Given the description of an element on the screen output the (x, y) to click on. 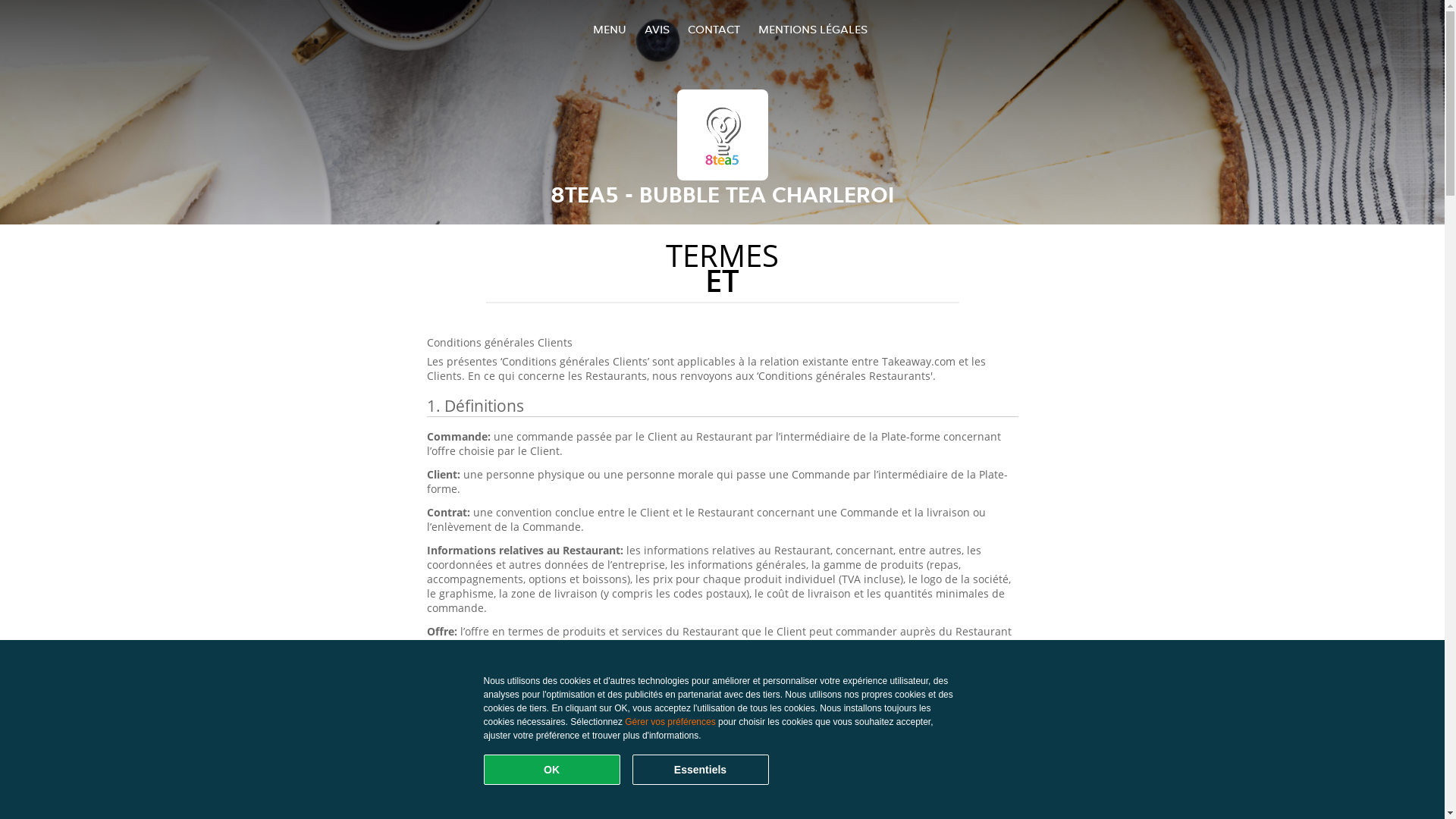
AVIS Element type: text (656, 29)
MENU Element type: text (609, 29)
Essentiels Element type: text (700, 769)
CONTACT Element type: text (713, 29)
OK Element type: text (551, 769)
